Given the description of an element on the screen output the (x, y) to click on. 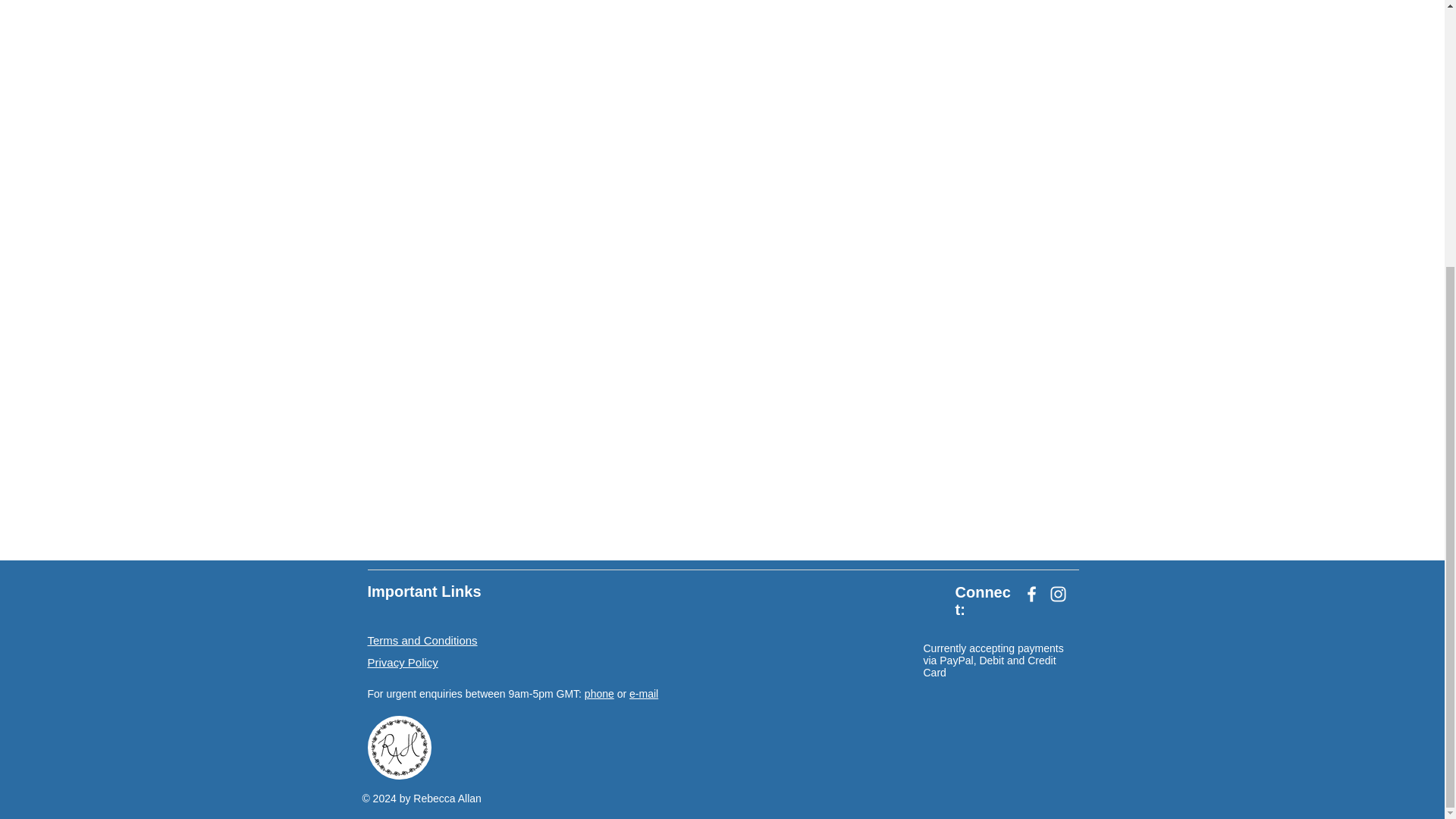
Privacy Policy (402, 662)
phone (599, 693)
e-mail (643, 693)
Terms and Conditions (421, 640)
